Given the description of an element on the screen output the (x, y) to click on. 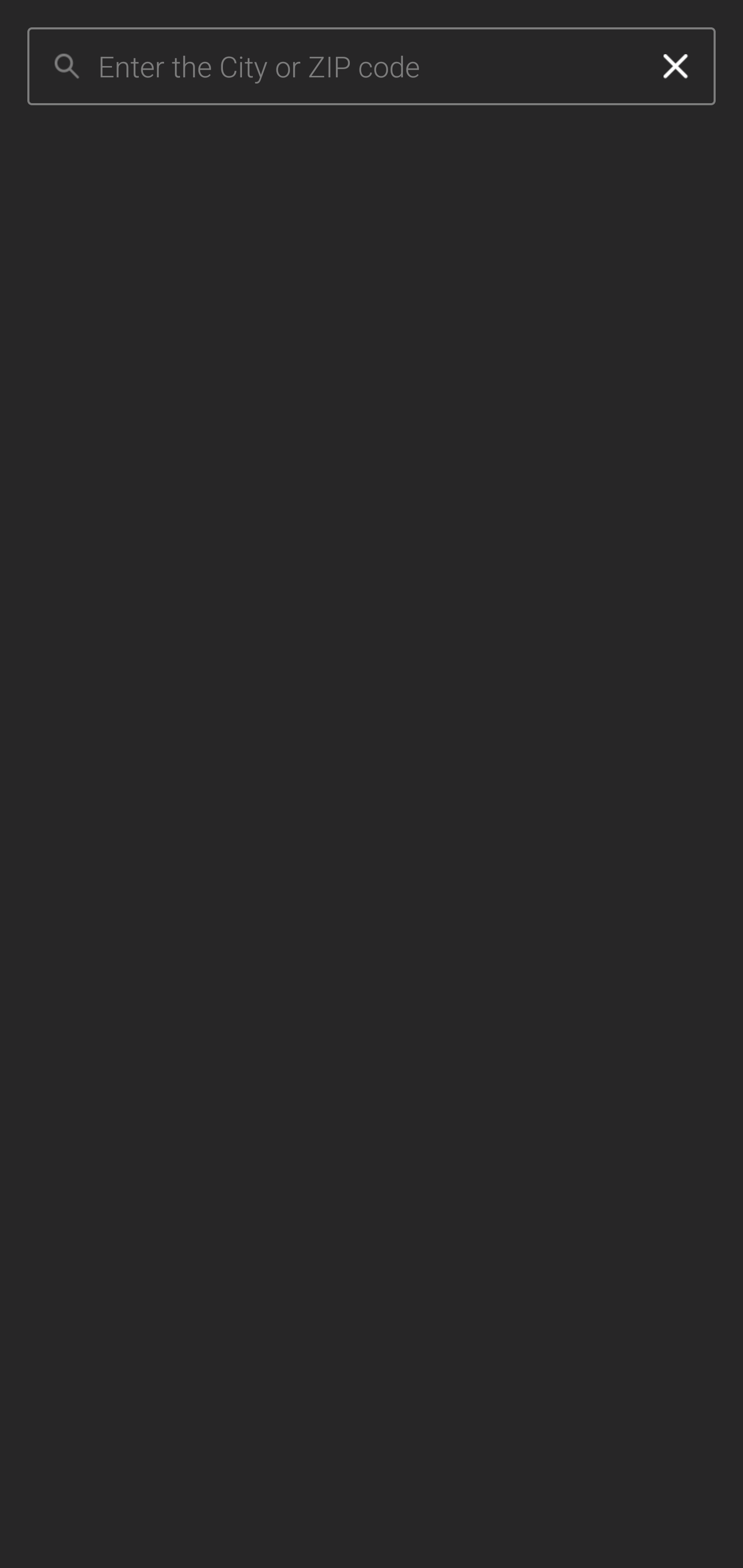
Enter the City or ZIP code (367, 66)
